Given the description of an element on the screen output the (x, y) to click on. 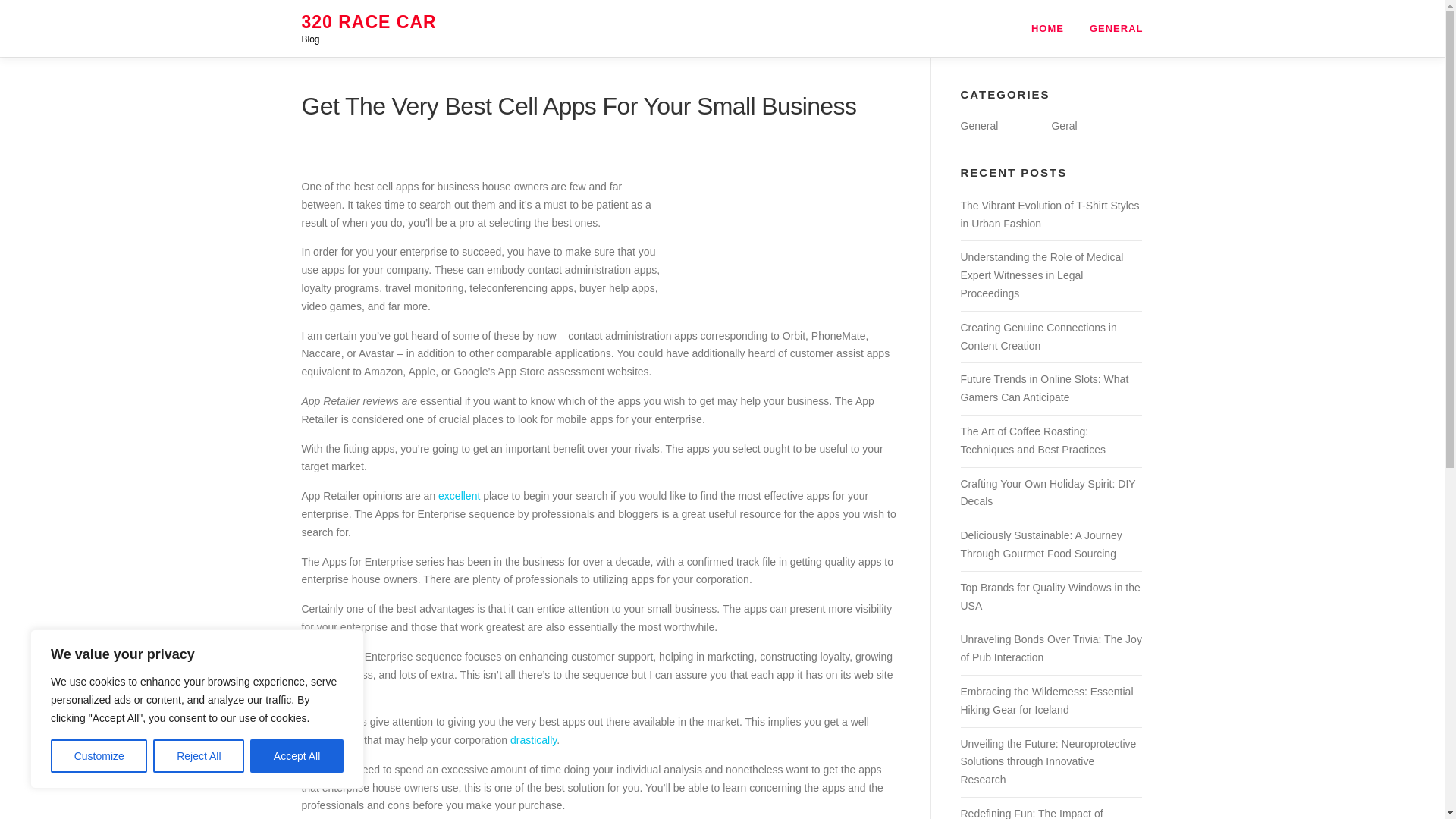
The Art of Coffee Roasting: Techniques and Best Practices (1032, 440)
320 RACE CAR (368, 21)
Reject All (198, 756)
Future Trends in Online Slots: What Gamers Can Anticipate (1043, 388)
Customize (98, 756)
Creating Genuine Connections in Content Creation (1037, 336)
Accept All (296, 756)
HOME (1047, 28)
Crafting Your Own Holiday Spirit: DIY Decals (1047, 492)
